Given the description of an element on the screen output the (x, y) to click on. 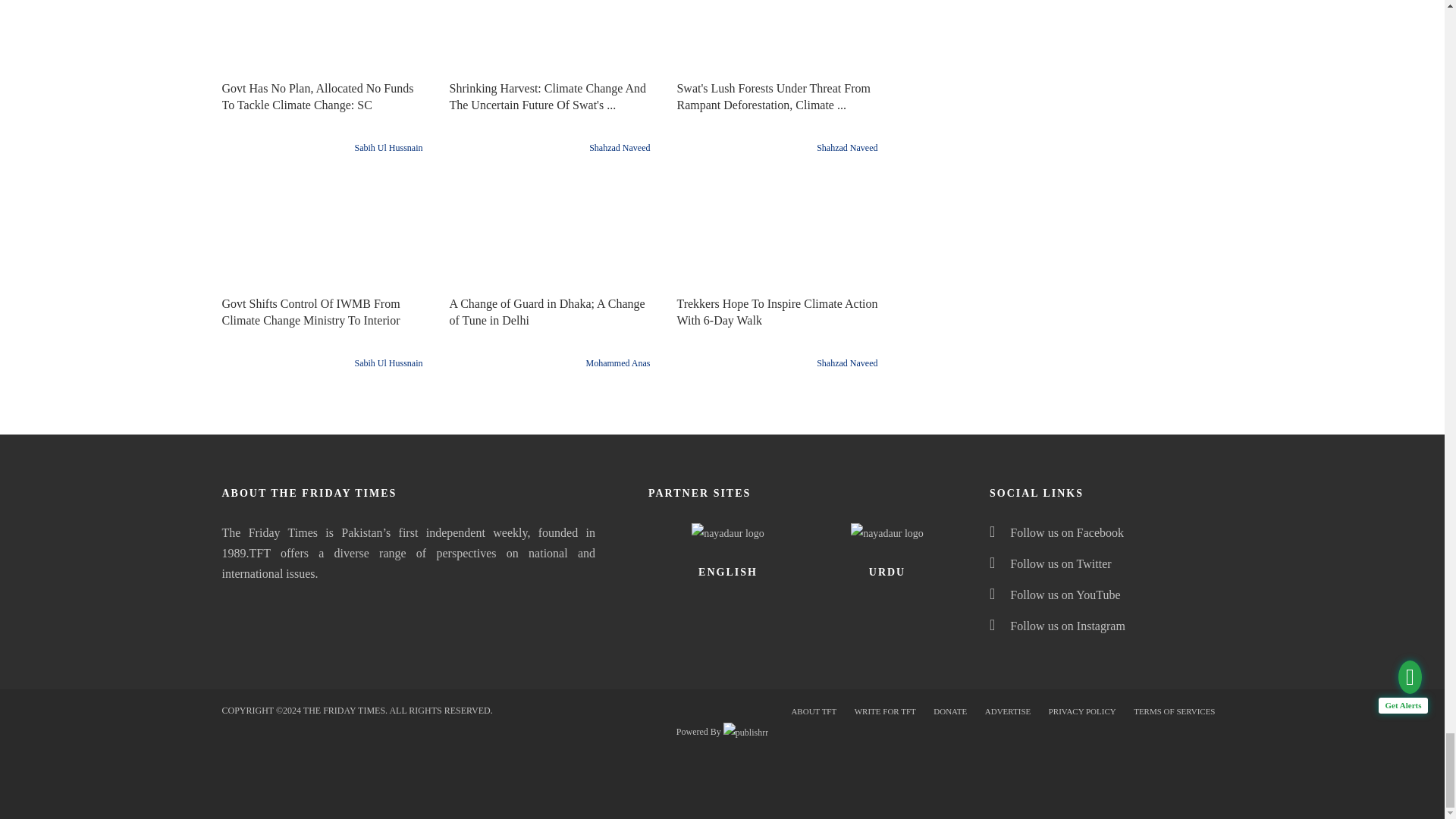
Trekkers Hope To Inspire Climate Action With 6-Day Walk (778, 233)
A Change of Guard in Dhaka; A Change of Tune in Delhi (550, 233)
